Given the description of an element on the screen output the (x, y) to click on. 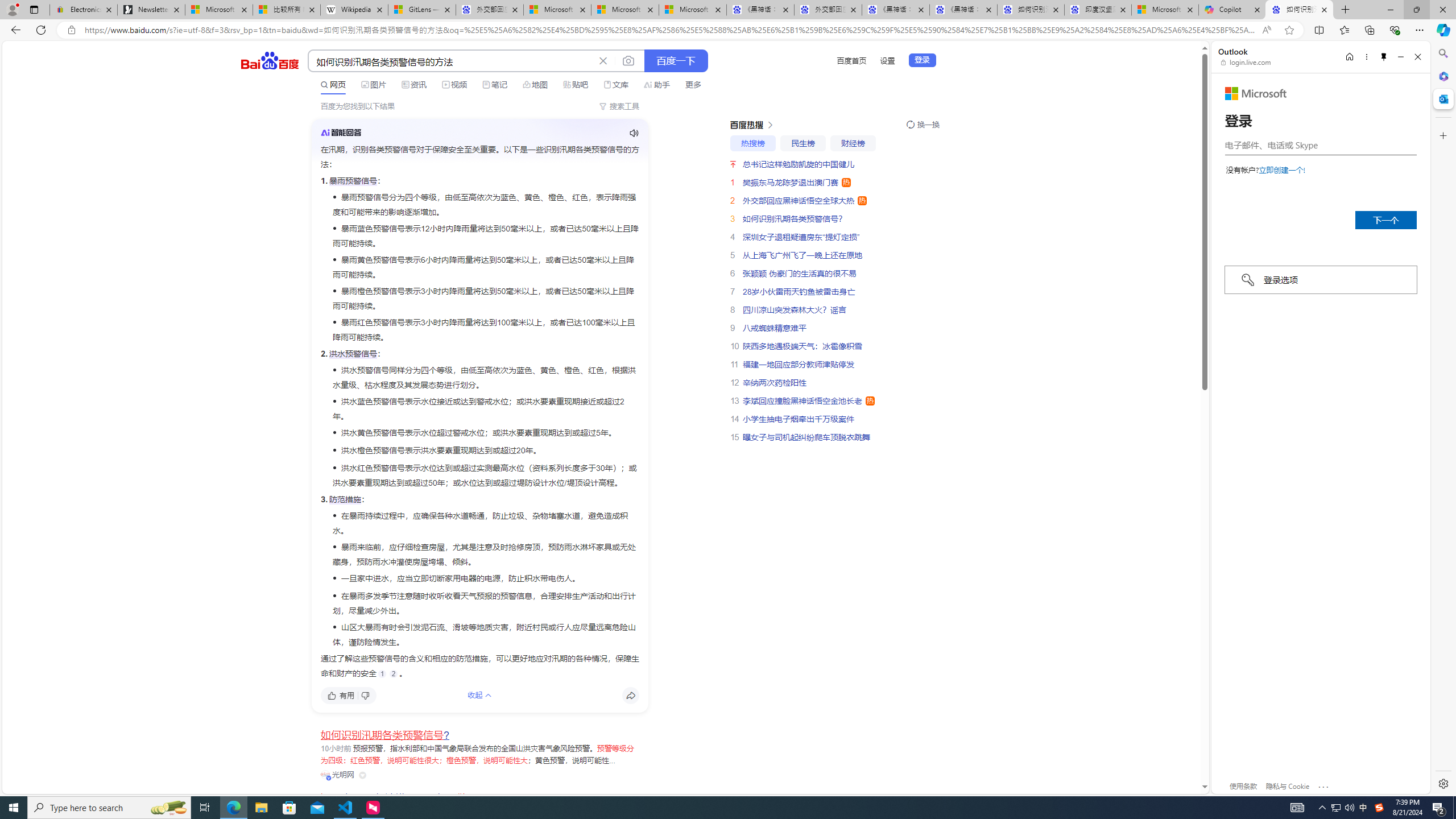
App bar (728, 29)
Copilot (1232, 9)
Wikipedia (354, 9)
